Given the description of an element on the screen output the (x, y) to click on. 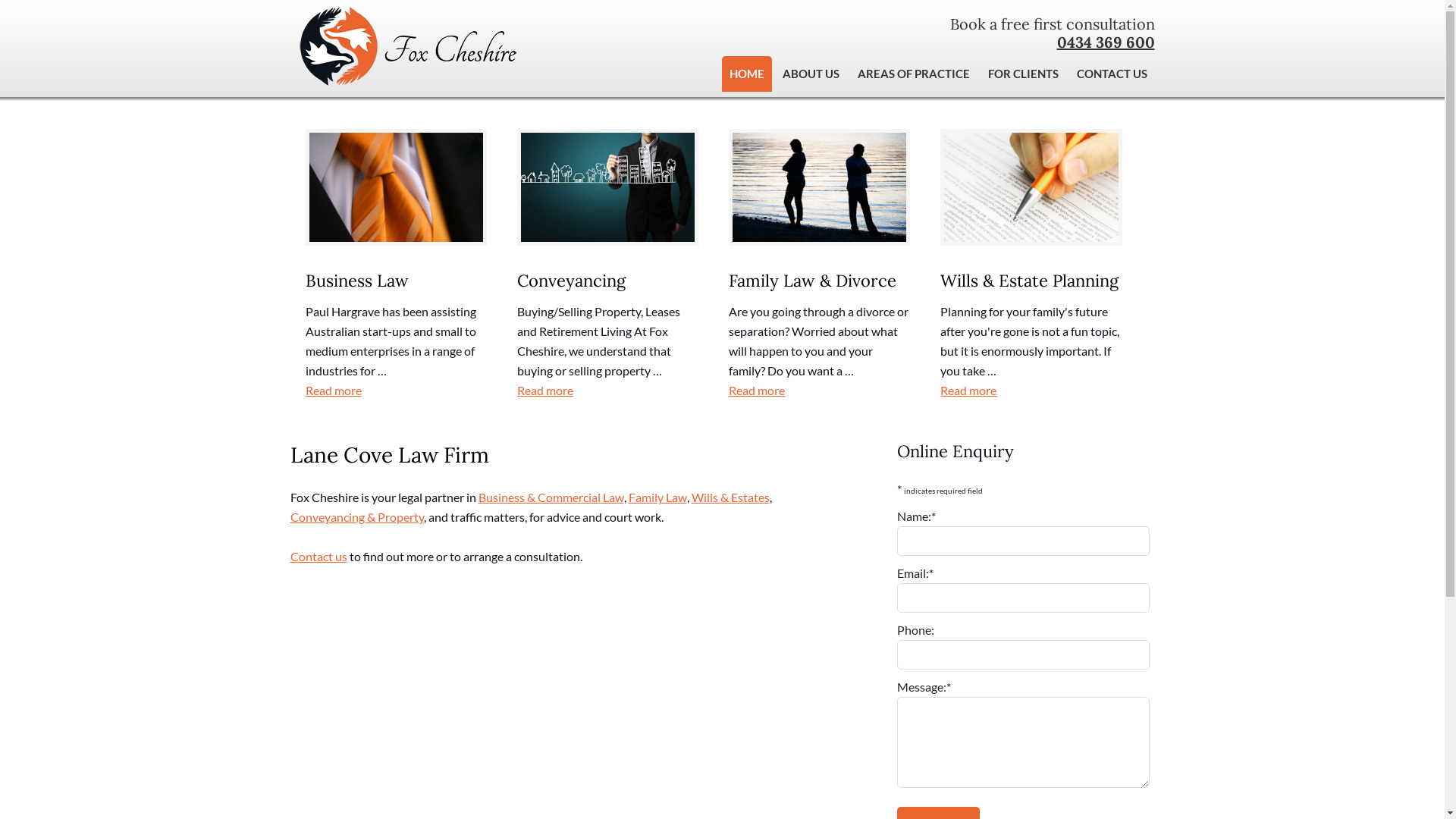
Contact us Element type: text (317, 556)
Read more Element type: text (1030, 390)
Family Law & Divorce Element type: text (812, 280)
FOR CLIENTS Element type: text (1022, 73)
Conveyancing Element type: text (571, 280)
Read more Element type: text (819, 390)
NYPH Pty Limited t/as Fox Cheshire Element type: hover (403, 77)
CONTACT US Element type: text (1111, 73)
Wills & Estates Element type: text (730, 496)
ABOUT US Element type: text (811, 73)
Wills & Estate Planning Element type: text (1029, 280)
Conveyancing & Property Element type: text (356, 516)
Read more Element type: text (607, 390)
Family Law Element type: text (656, 496)
HOME Element type: text (746, 73)
0434 369 600 Element type: text (1105, 41)
Business & Commercial Law Element type: text (550, 496)
AREAS OF PRACTICE Element type: text (912, 73)
Business Law Element type: text (355, 280)
Read more Element type: text (395, 390)
